Given the description of an element on the screen output the (x, y) to click on. 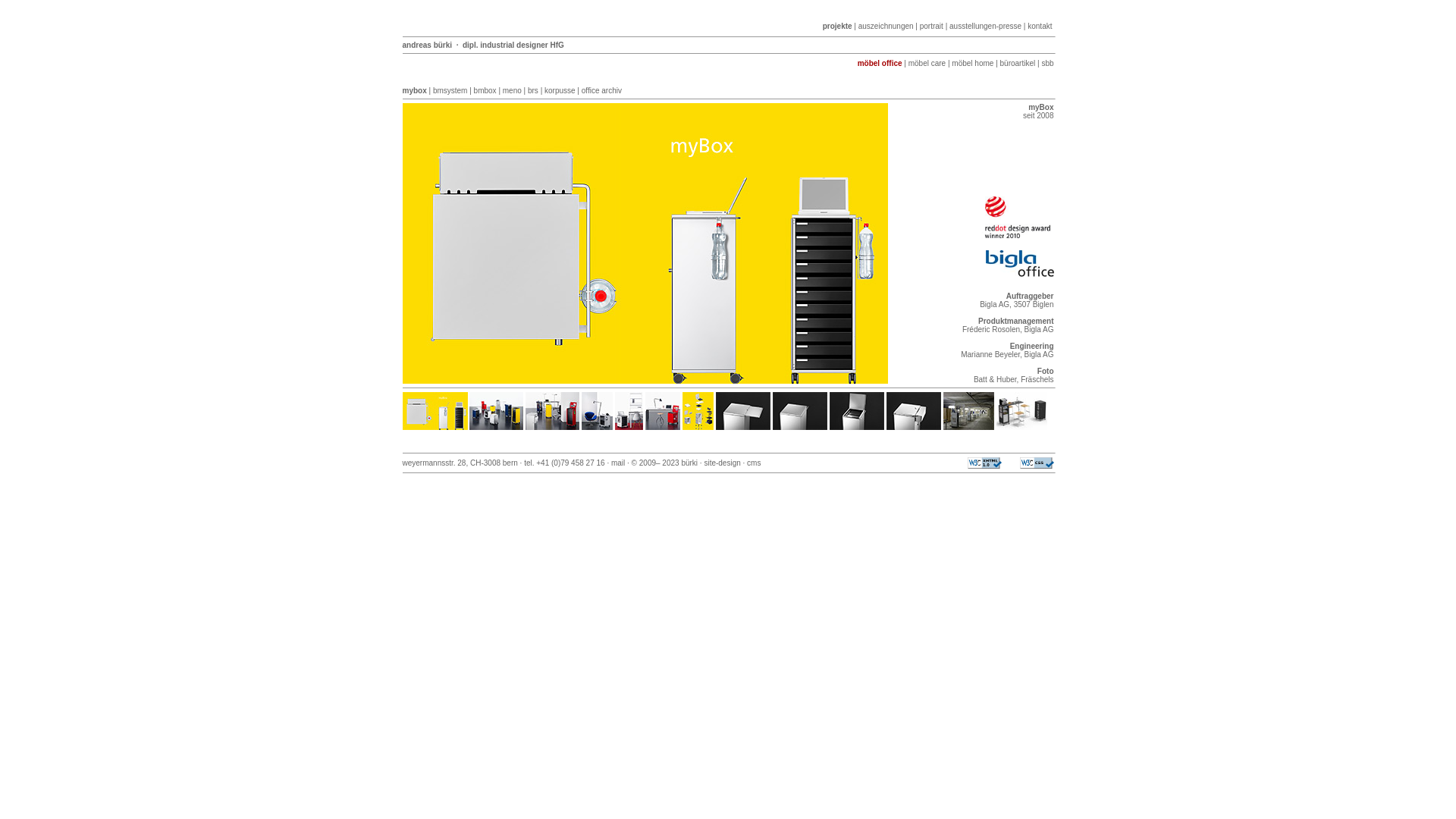
projekte Element type: text (837, 25)
mybox Element type: text (413, 90)
auszeichnungen Element type: text (885, 25)
ausstellungen-presse Element type: text (985, 25)
bmsystem Element type: text (450, 90)
kontakt Element type: text (1039, 25)
office archiv Element type: text (601, 90)
korpusse Element type: text (559, 90)
bmbox Element type: text (484, 90)
cms Element type: text (753, 462)
sbb Element type: text (1047, 63)
brs Element type: text (532, 90)
mail Element type: text (617, 462)
portrait Element type: text (931, 25)
meno Element type: text (511, 90)
site-design Element type: text (721, 462)
